Given the description of an element on the screen output the (x, y) to click on. 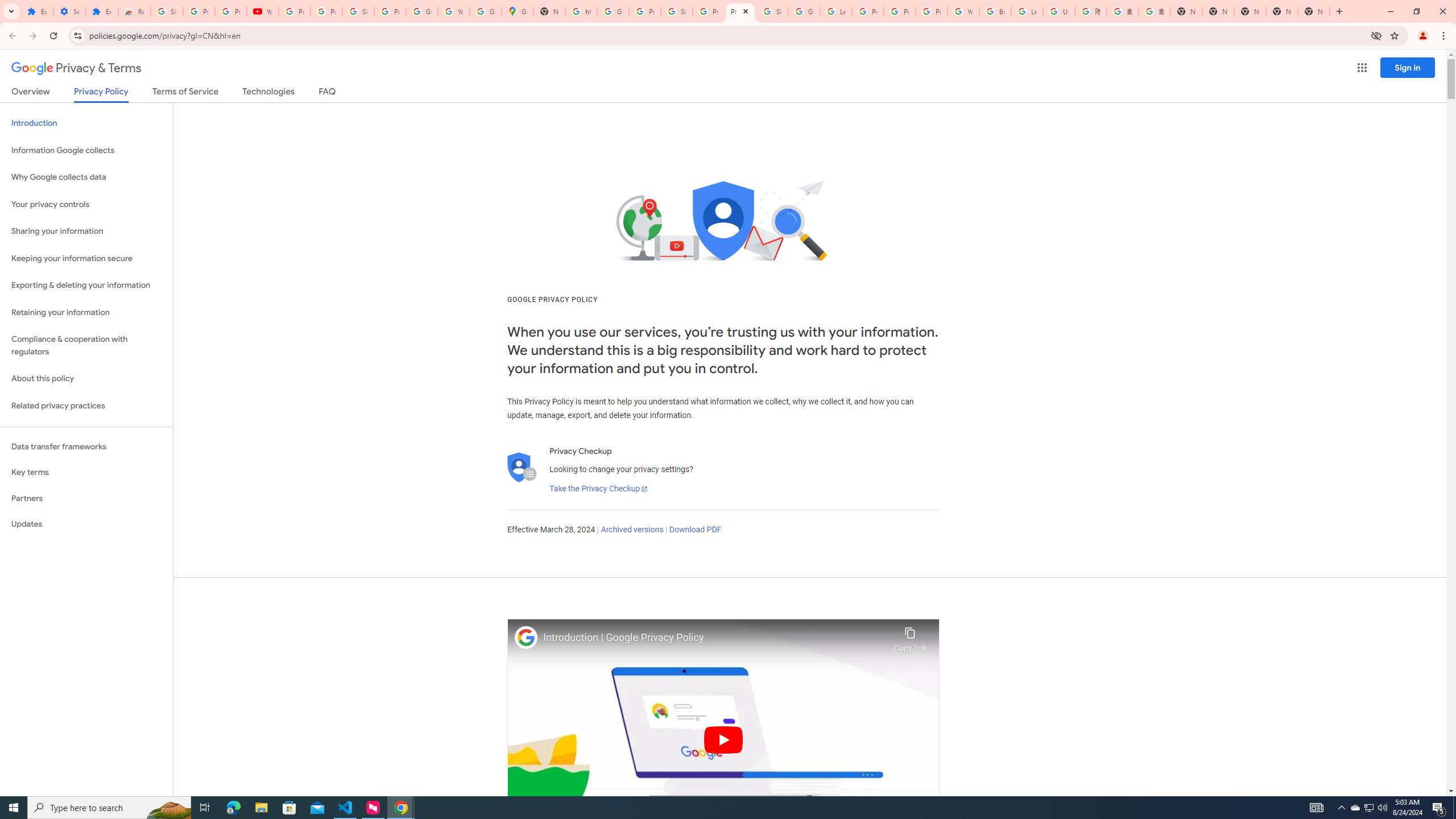
Privacy Help Center - Policies Help (899, 11)
Copy link (909, 636)
Reviews: Helix Fruit Jump Arcade Game (134, 11)
